Given the description of an element on the screen output the (x, y) to click on. 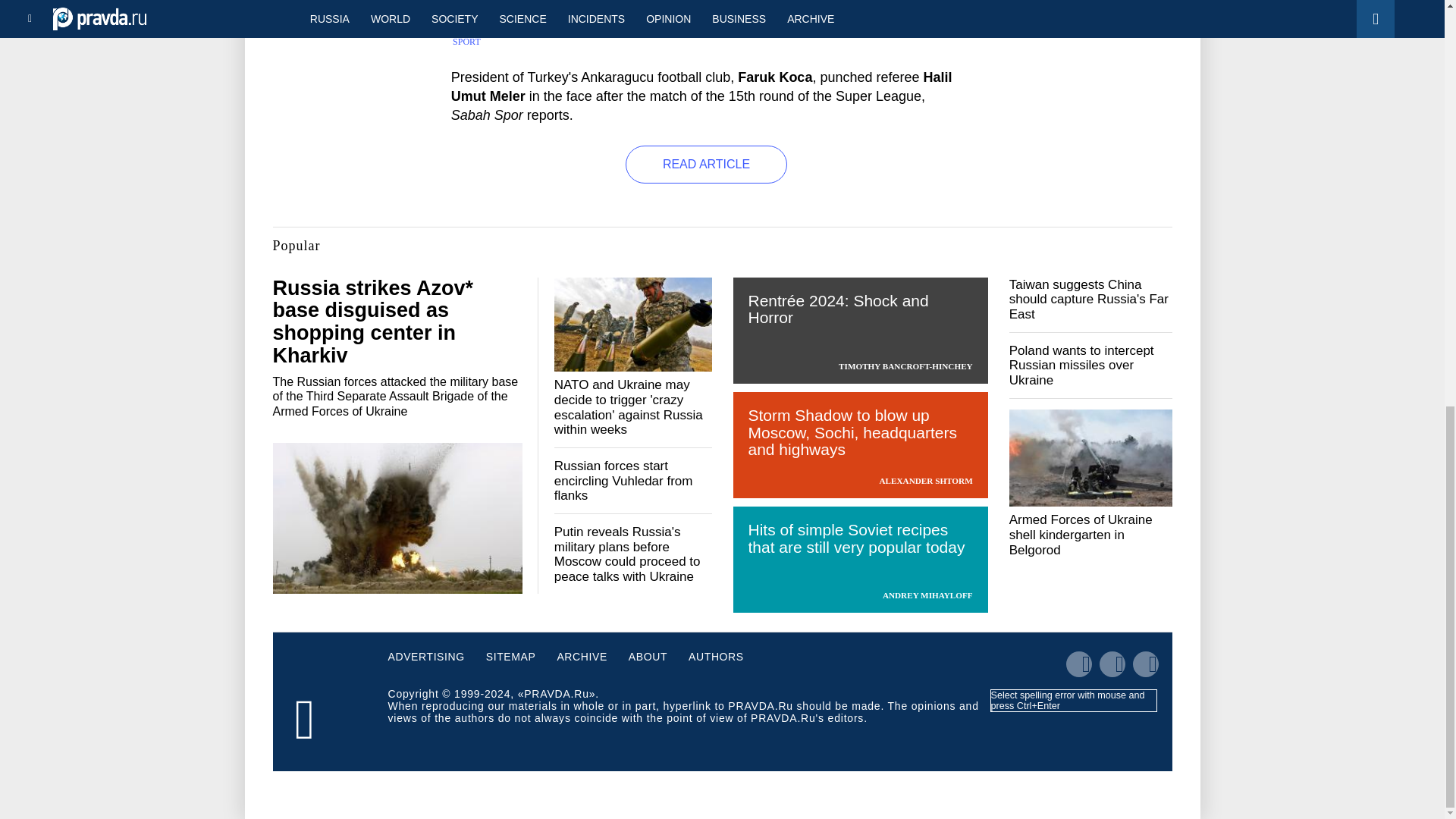
Published (486, 25)
Back to top (1418, 92)
SPORT (466, 41)
